Given the description of an element on the screen output the (x, y) to click on. 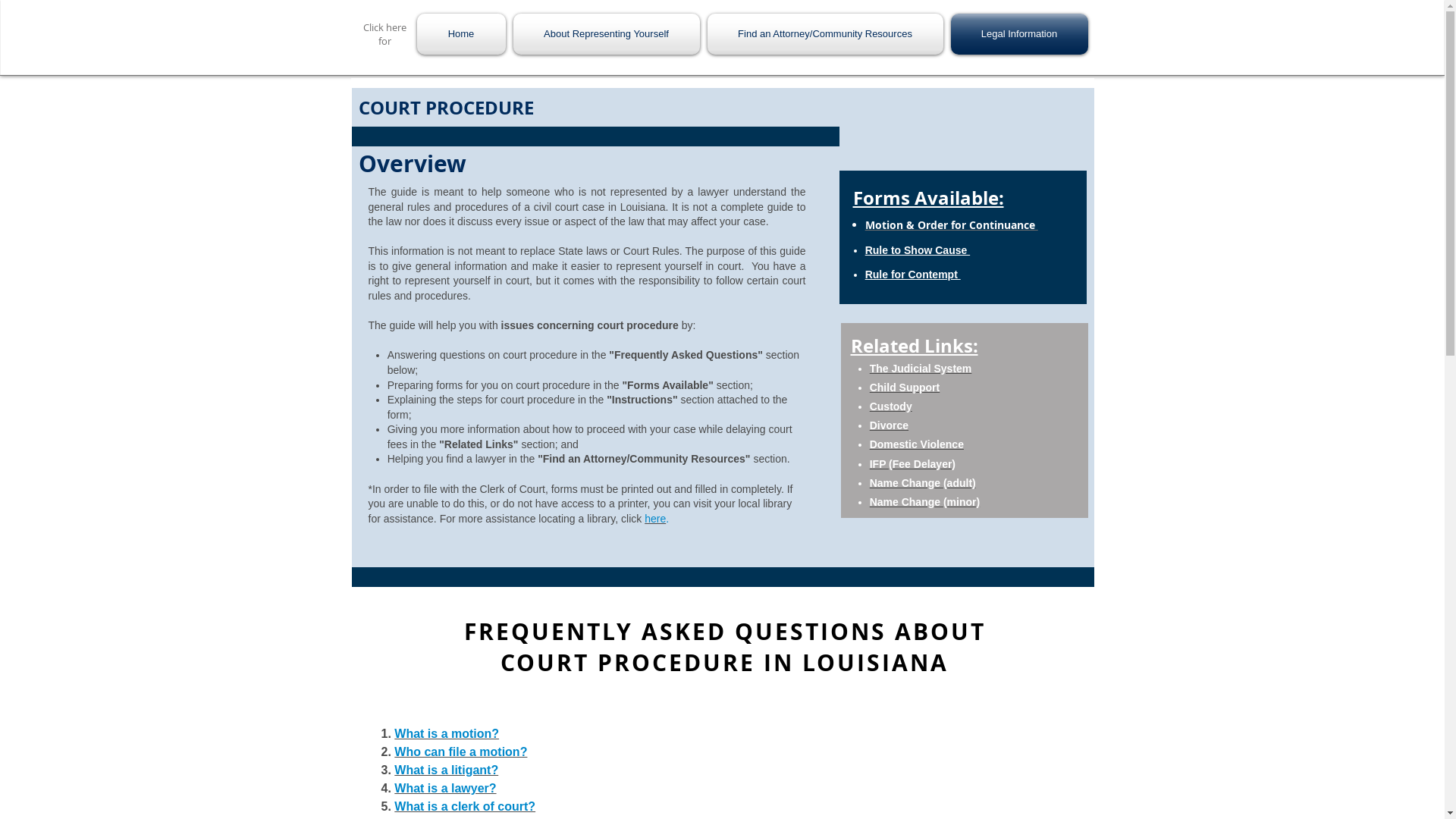
Rule to Show Cause  Element type: text (917, 250)
Find an Attorney/Community Resources Element type: text (825, 33)
What is a clerk of court? Element type: text (464, 806)
Who can file a motion? Element type: text (460, 751)
What is a lawyer? Element type: text (444, 787)
Legal Information Element type: text (1016, 33)
About Representing Yourself Element type: text (606, 33)
What is a litigant? Element type: text (446, 769)
Domestic Violence Element type: text (916, 444)
The Judicial System Element type: text (920, 368)
Custody Element type: text (890, 406)
IFP (Fee Delayer) Element type: text (912, 464)
Child Support Element type: text (904, 387)
Name Change (minor) Element type: text (924, 501)
What is a motion? Element type: text (446, 733)
Divorce Element type: text (888, 425)
Rule for Contempt  Element type: text (912, 274)
here Element type: text (654, 518)
Motion & Order for Continuance  Element type: text (951, 224)
Home Element type: text (463, 33)
Name Change (adult) Element type: text (922, 482)
